Given the description of an element on the screen output the (x, y) to click on. 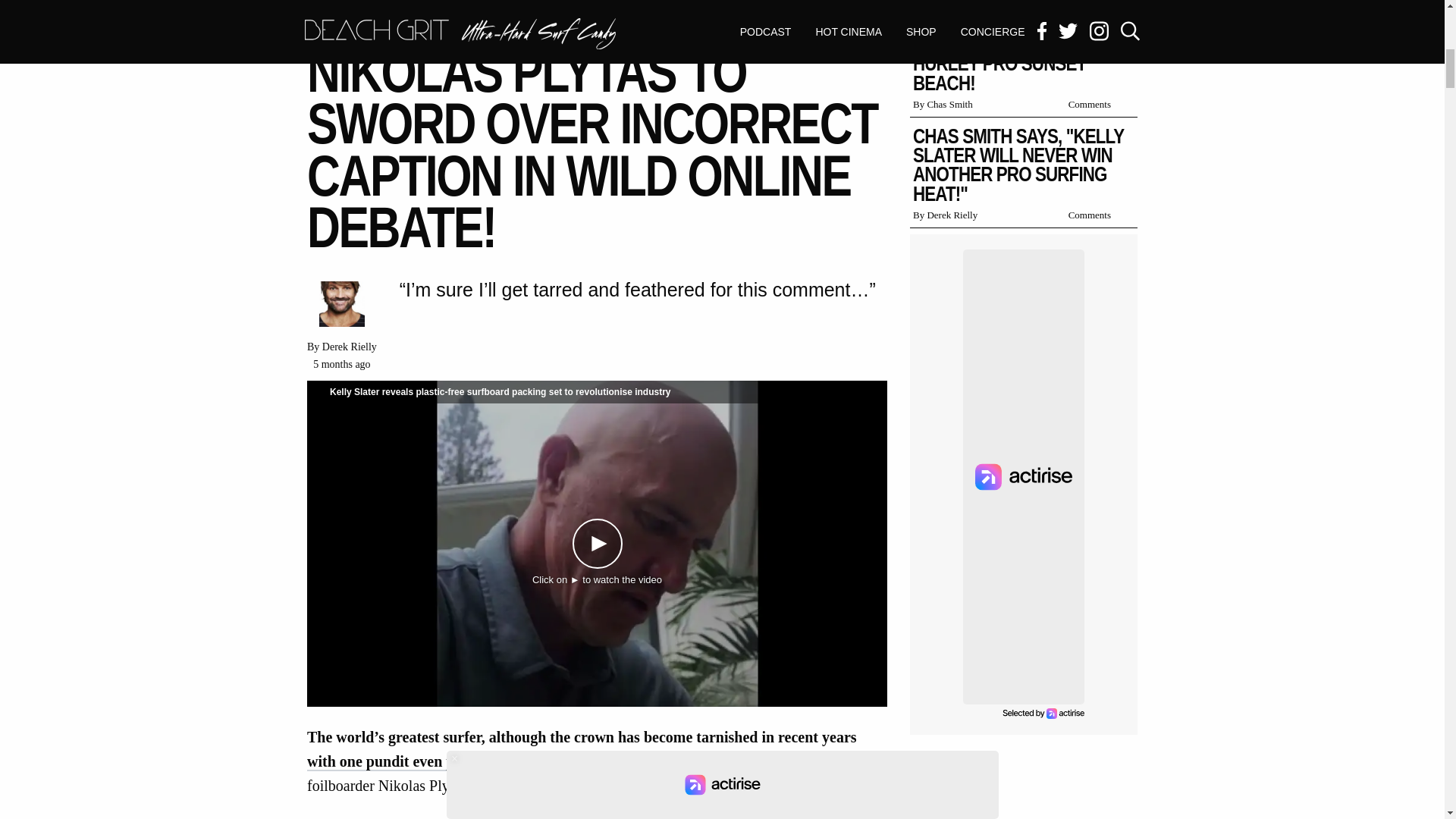
Derek Rielly (349, 346)
